Given the description of an element on the screen output the (x, y) to click on. 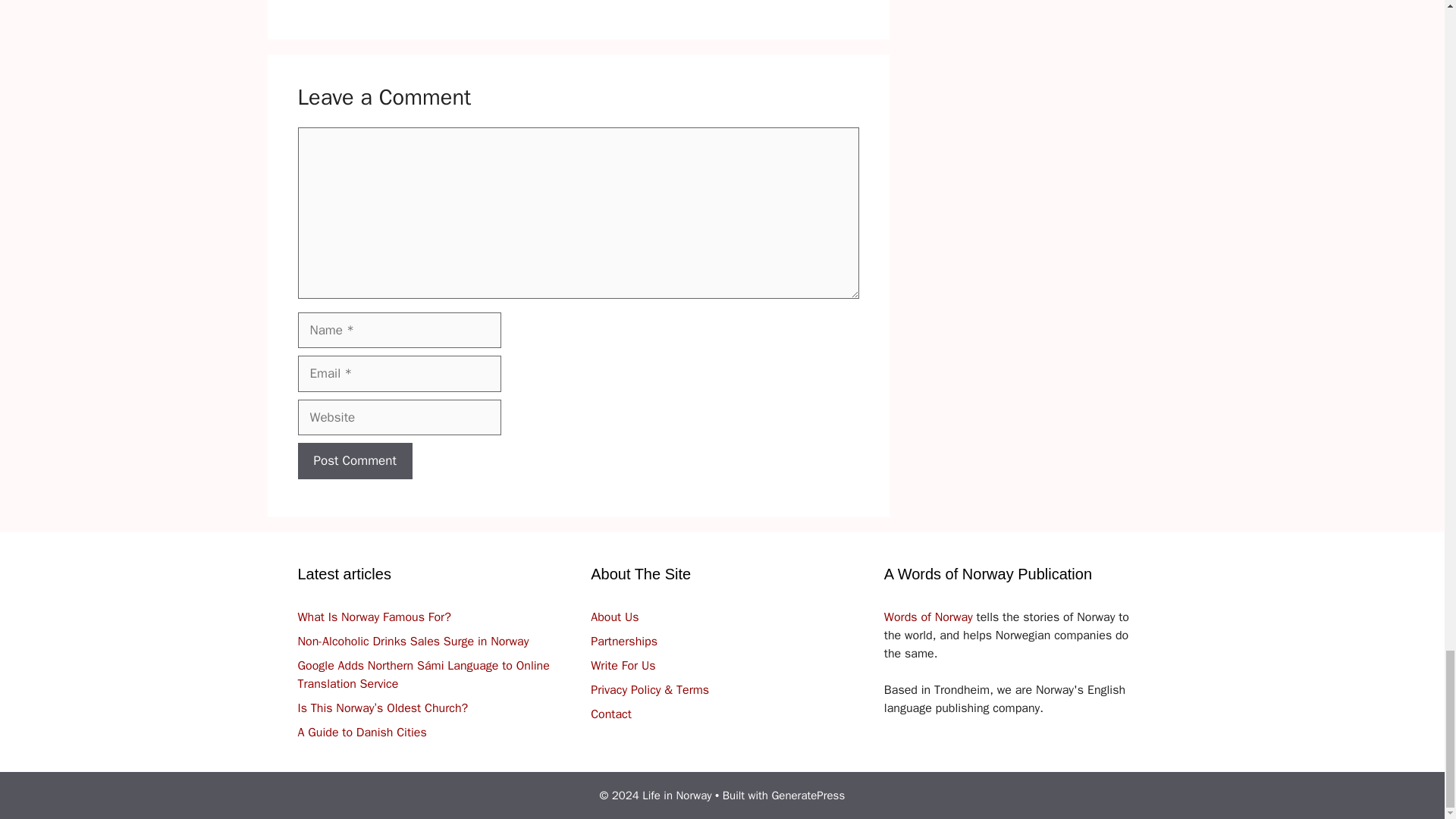
Post Comment (354, 461)
